Given the description of an element on the screen output the (x, y) to click on. 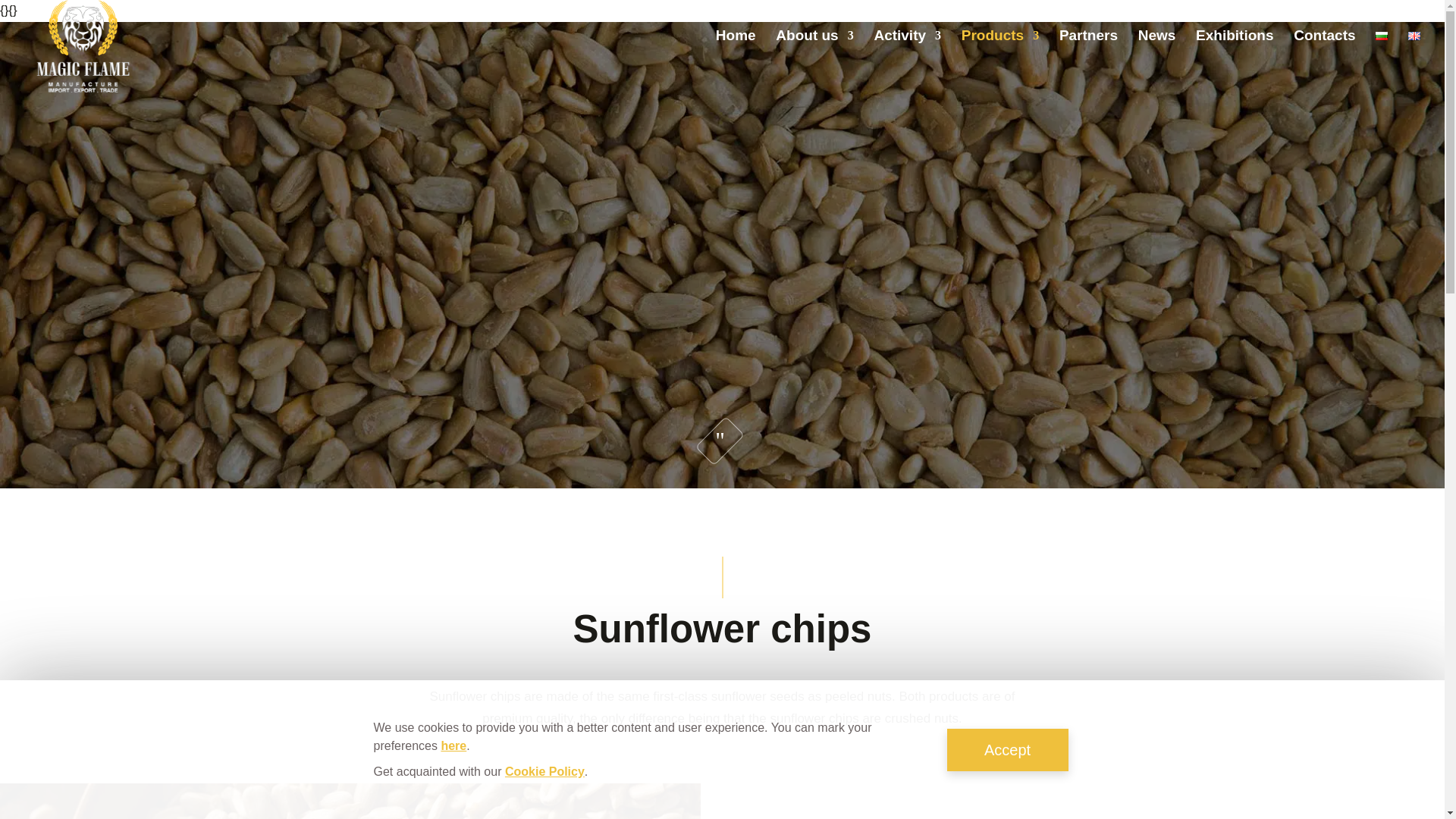
Exhibitions (1233, 50)
hs (350, 800)
Contacts (1324, 50)
Products (999, 50)
Partners (1088, 50)
News (1157, 50)
Activity (906, 50)
About us (814, 50)
Home (735, 50)
